Given the description of an element on the screen output the (x, y) to click on. 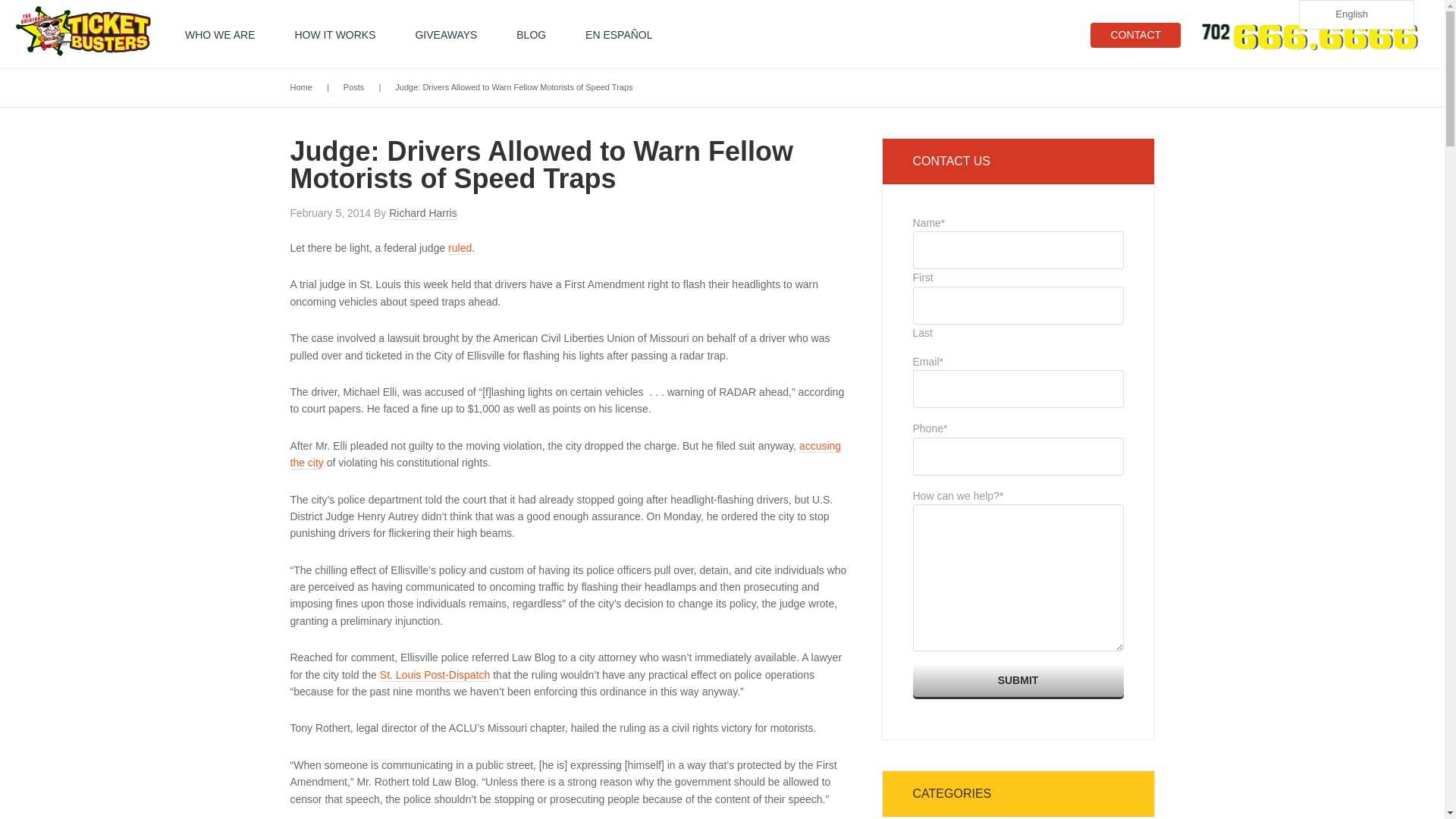
TICKET BUSTERS (90, 33)
ruled (459, 247)
GIVEAWAYS (446, 34)
accusing the city (565, 454)
CONTACT (1135, 34)
WHO WE ARE (220, 34)
7026666666 (1306, 35)
Home (300, 86)
Submit (1018, 679)
HOW IT WORKS (334, 34)
